Given the description of an element on the screen output the (x, y) to click on. 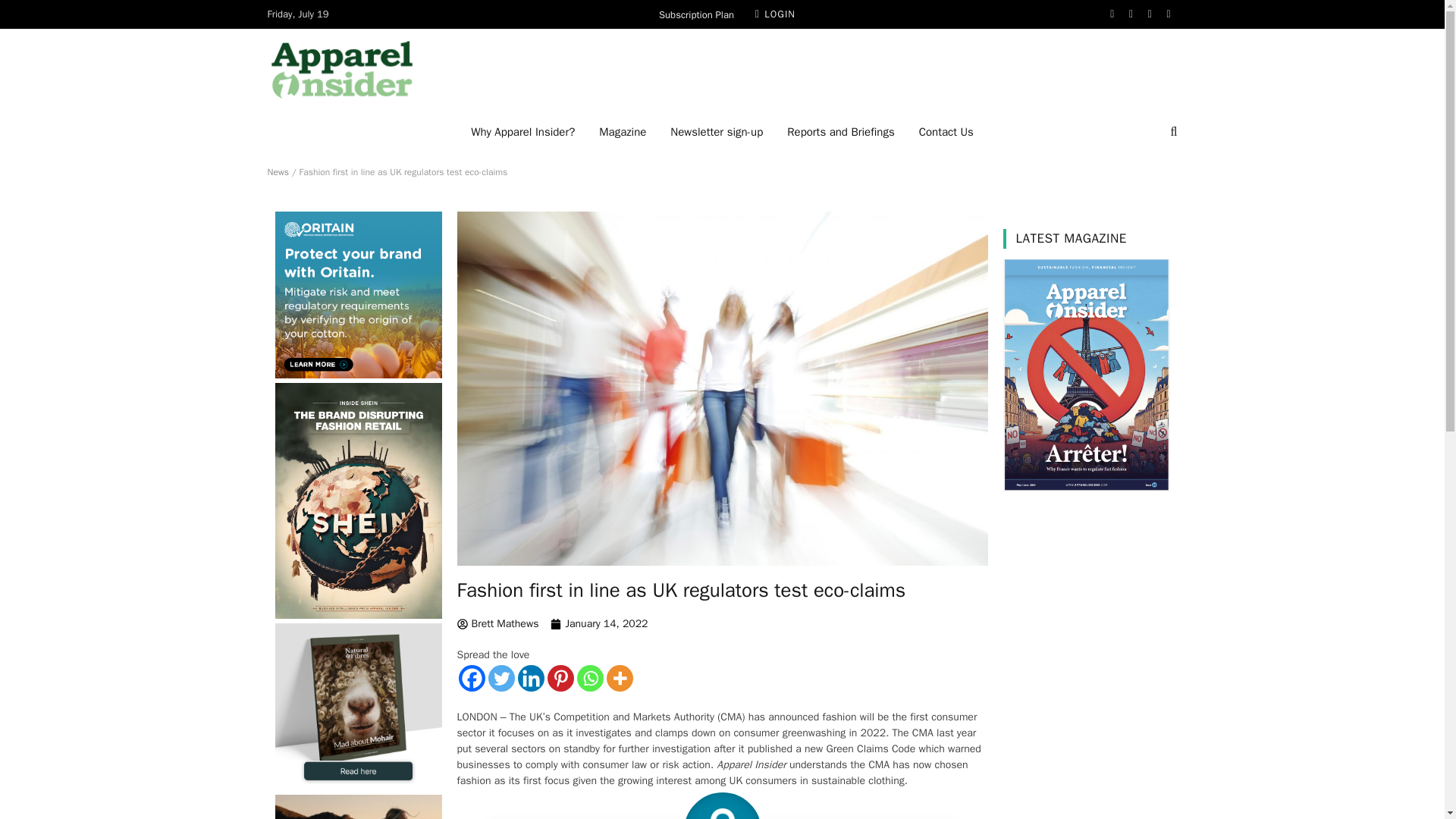
January 14, 2022 (598, 623)
Apparel Insider contact form (946, 131)
About Us (522, 131)
Instagram (1149, 14)
Newsletter sign-up (716, 131)
Brett Mathews (497, 623)
Facebook (471, 678)
Facebook (1112, 14)
Contact Us (946, 131)
Reports and Briefings (839, 131)
Subscription Plan (696, 14)
Whatsapp (589, 678)
News (277, 172)
Twitter (501, 678)
LOGIN (774, 14)
